Given the description of an element on the screen output the (x, y) to click on. 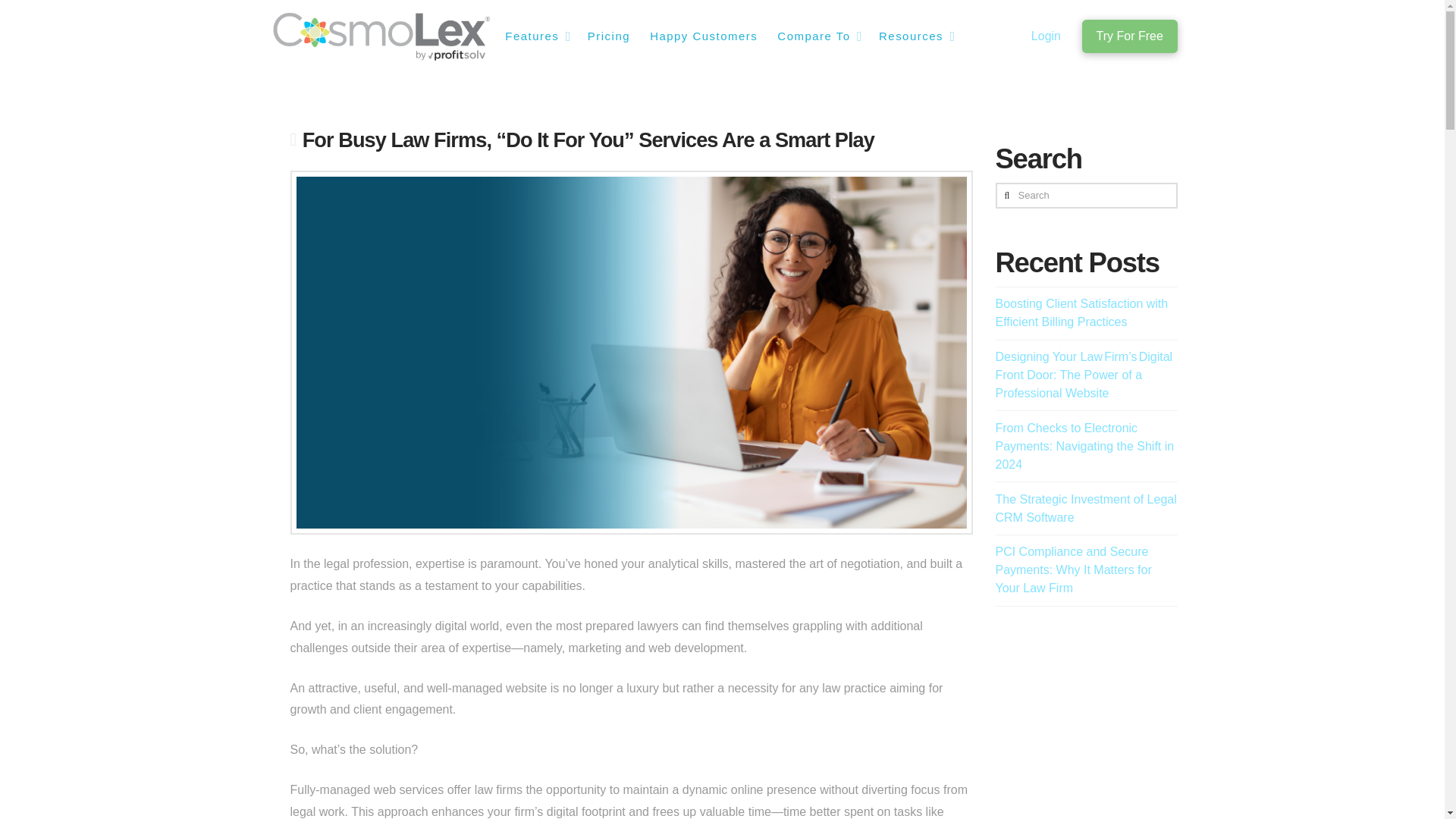
Features (535, 36)
Compare To (818, 36)
Happy Customers (703, 36)
Login (1045, 35)
Resources (913, 36)
Try For Free (1128, 36)
